Given the description of an element on the screen output the (x, y) to click on. 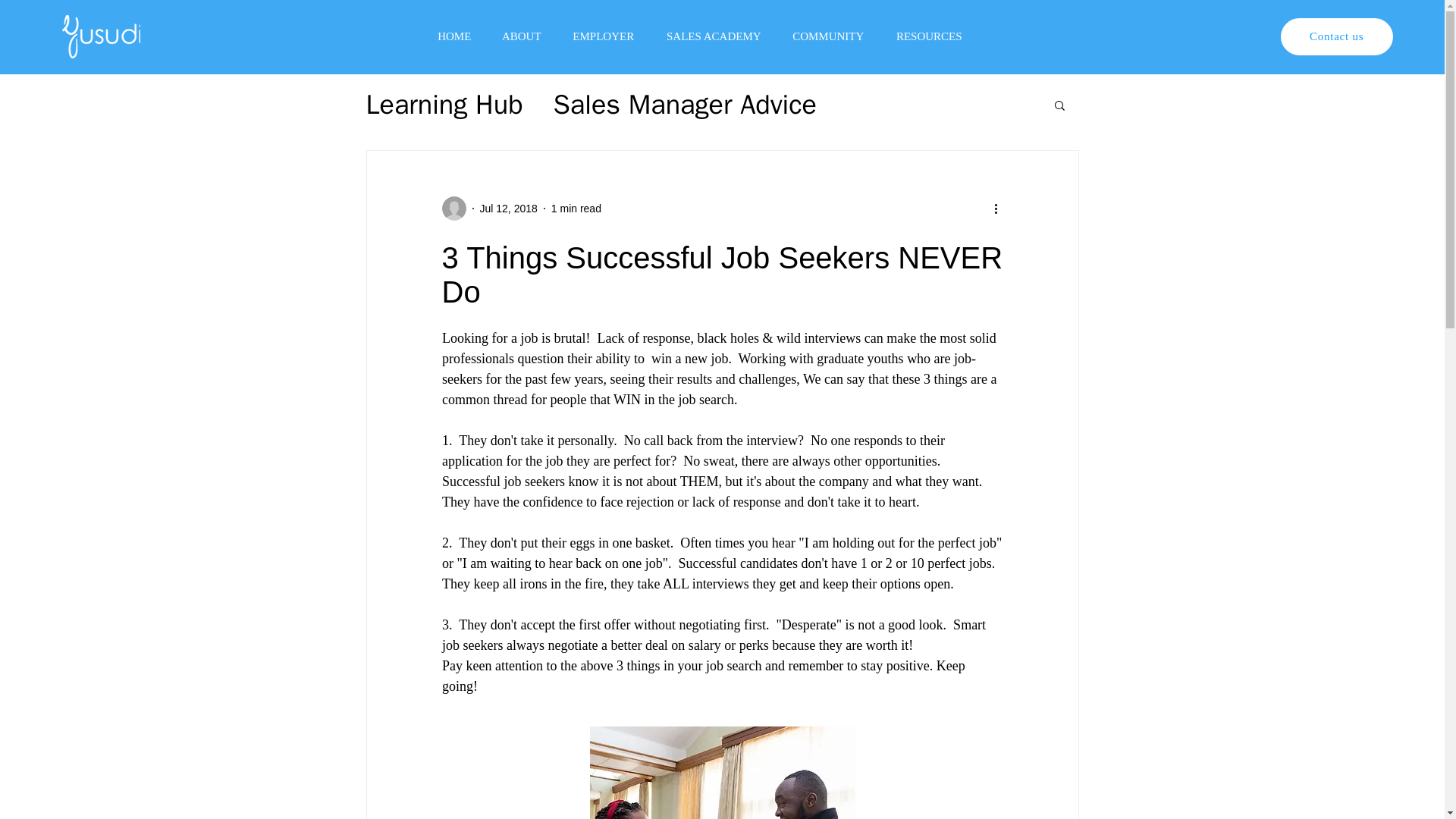
Learning Hub (443, 104)
Contact us (1337, 36)
Sales Manager Advice (684, 104)
SALES ACADEMY (713, 36)
1 min read (576, 207)
HOME (454, 36)
ABOUT (521, 36)
Jul 12, 2018 (508, 207)
COMMUNITY (828, 36)
EMPLOYER (603, 36)
